Given the description of an element on the screen output the (x, y) to click on. 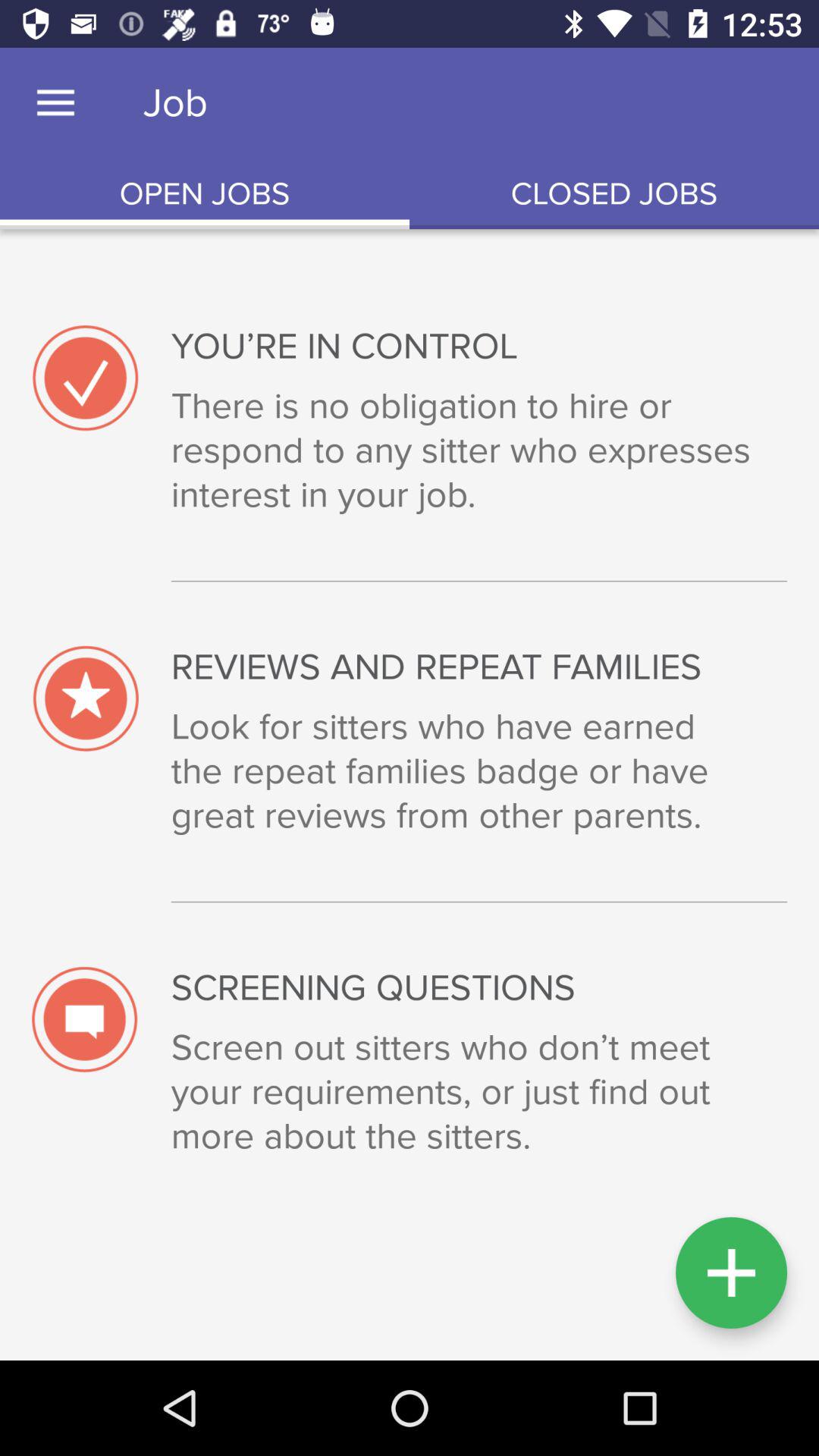
click item below the screen out sitters (731, 1272)
